Given the description of an element on the screen output the (x, y) to click on. 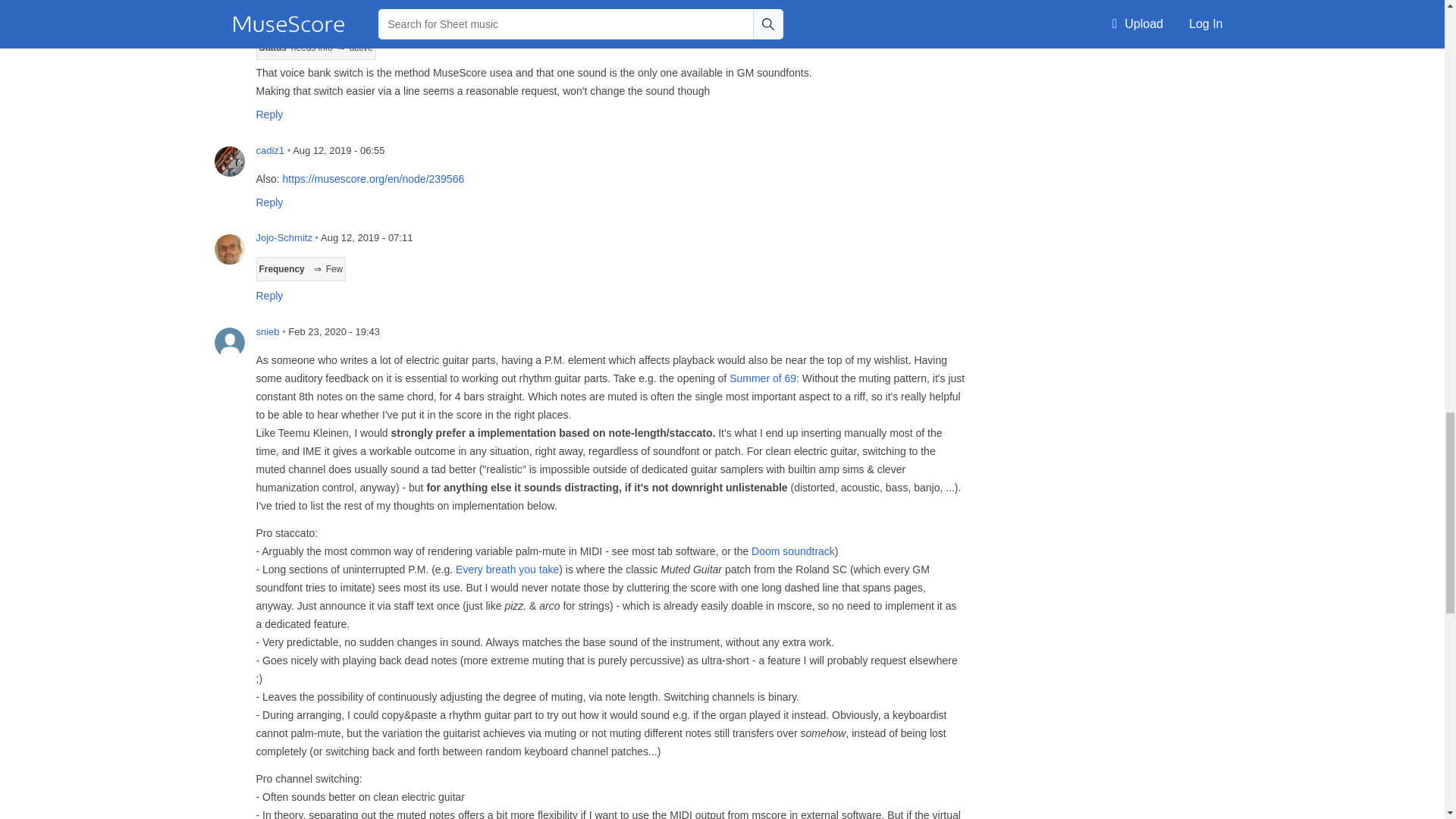
Jojo-Schmitz (229, 27)
cadiz1 (229, 161)
snieb (229, 342)
Jojo-Schmitz (229, 248)
